Given the description of an element on the screen output the (x, y) to click on. 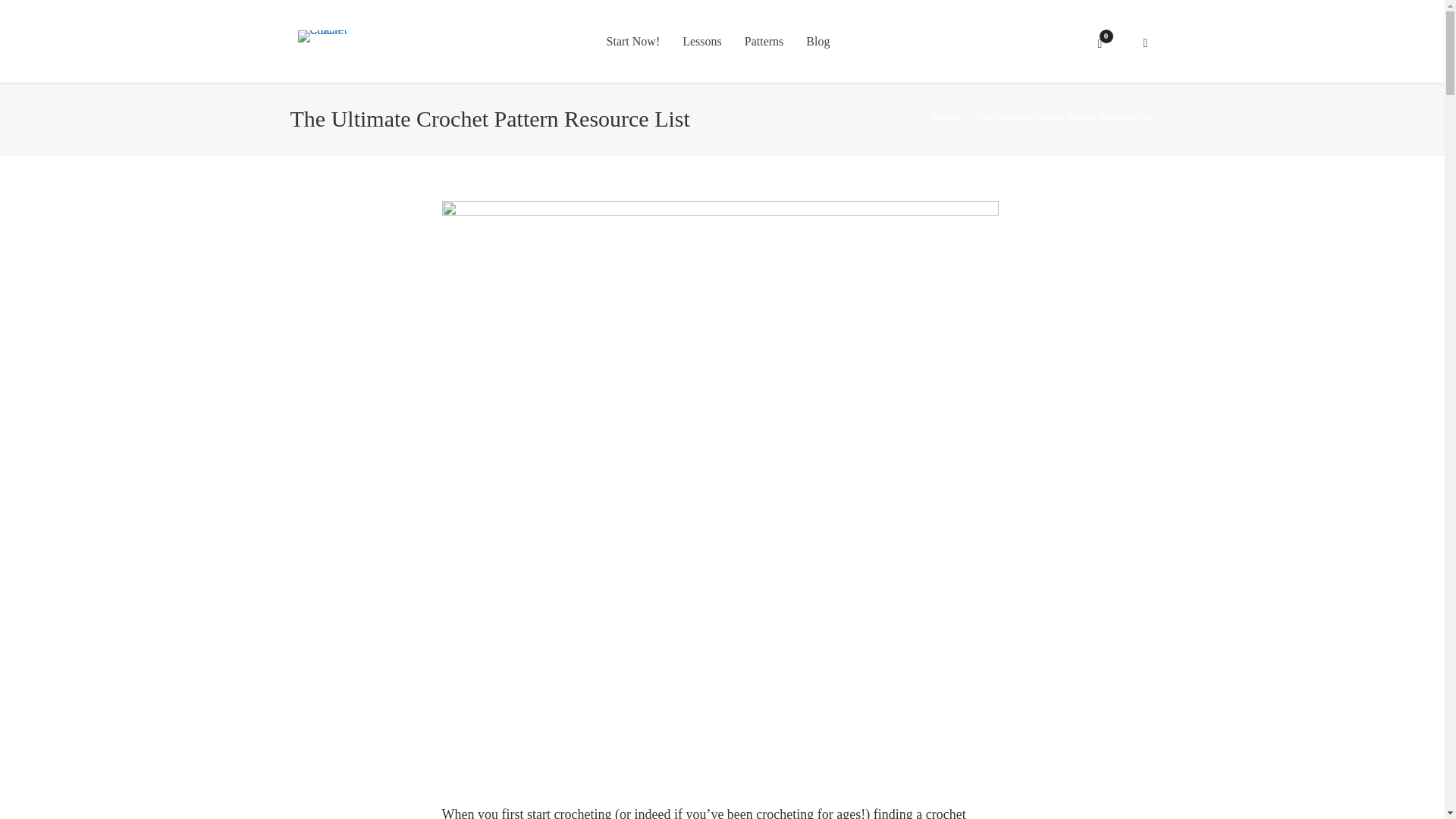
Start Now! (633, 41)
Go to the Articles category archives. (944, 118)
View your shopping cart (1100, 42)
